Given the description of an element on the screen output the (x, y) to click on. 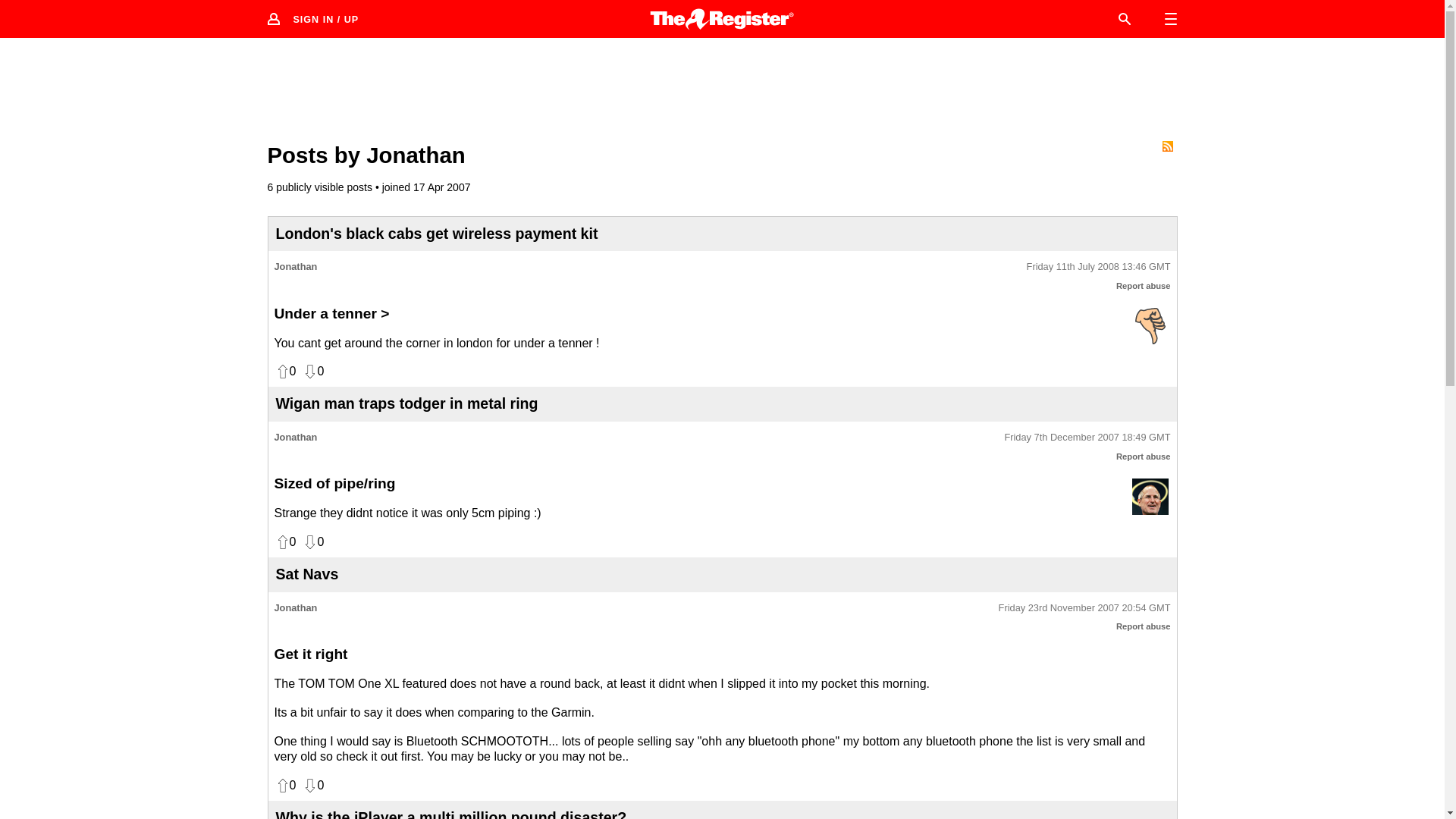
Report abuse (1143, 285)
Permalink to this post (1087, 437)
Hate it (1149, 325)
Dislike this post? Vote it down! (312, 371)
Permalink to this post (1084, 608)
Report abuse (1143, 625)
Dislike this post? Vote it down! (312, 785)
Permalink to this post (1098, 267)
Like this post? Vote for it! (286, 541)
iFan (1149, 495)
